Given the description of an element on the screen output the (x, y) to click on. 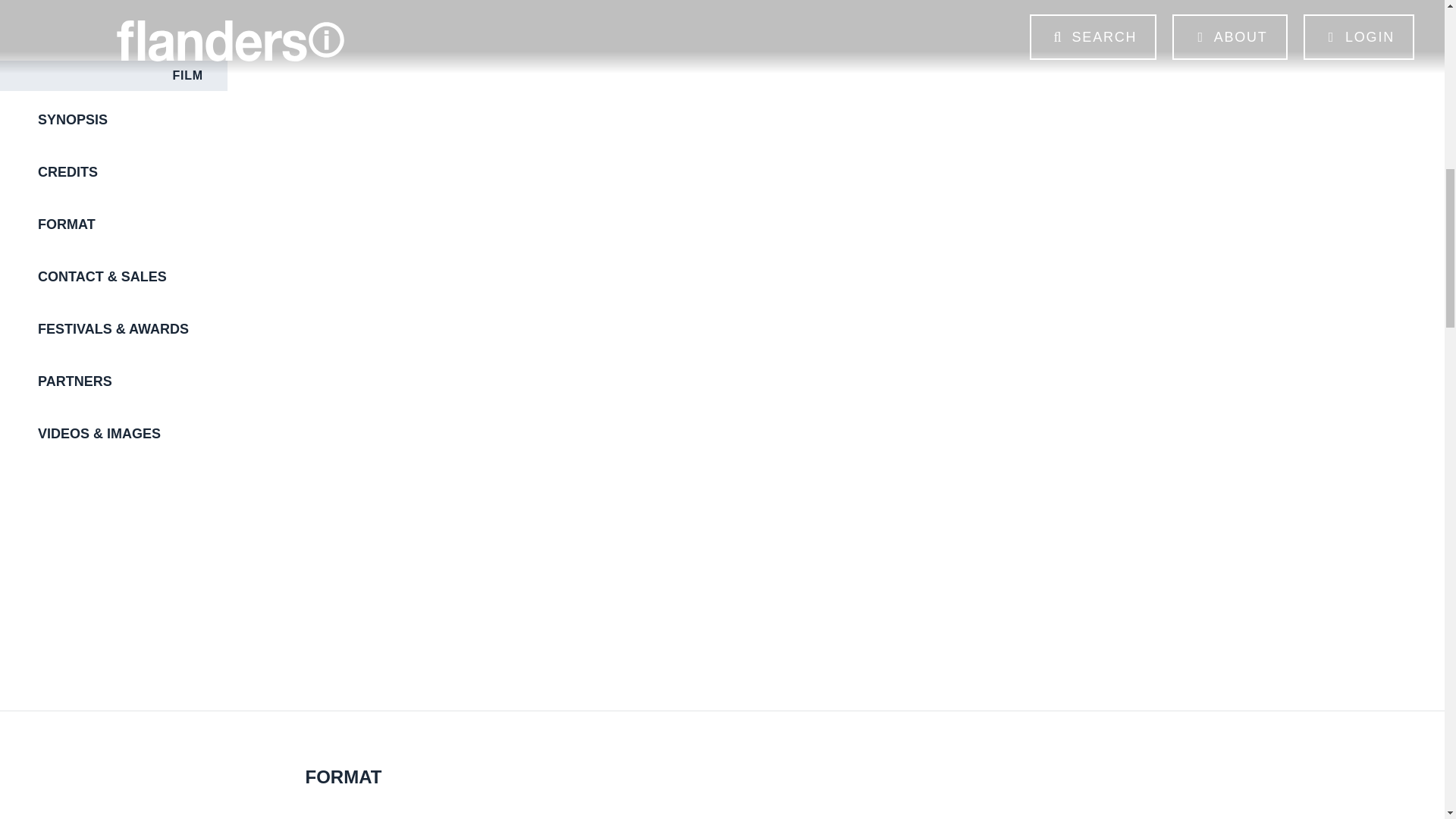
SYNOPSIS (132, 120)
CREDITS (132, 172)
FORMAT (132, 224)
PARTNERS (132, 381)
